Given the description of an element on the screen output the (x, y) to click on. 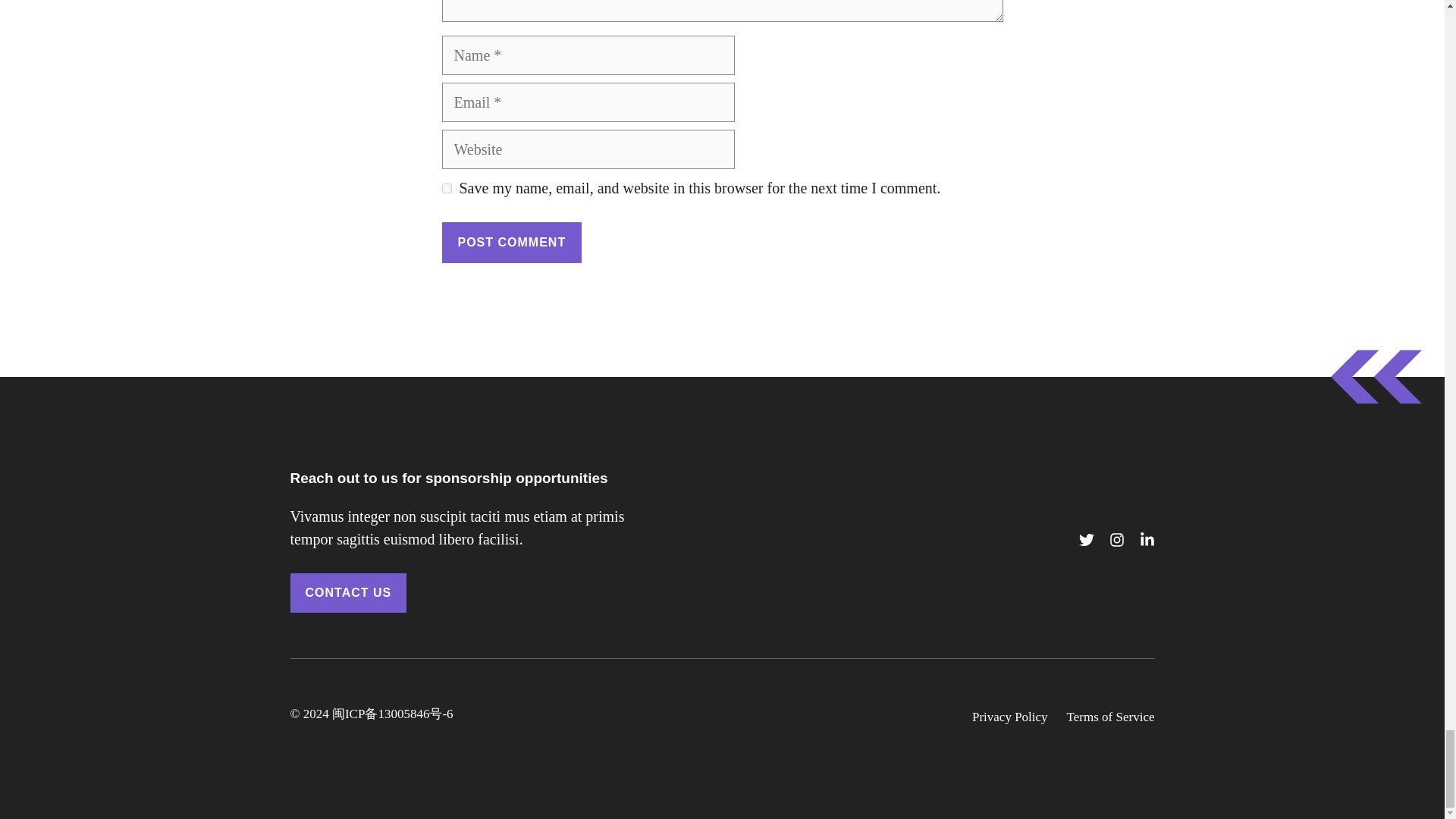
Terms of Service (1110, 716)
yes (446, 188)
Post Comment (510, 241)
CONTACT US (347, 592)
Post Comment (510, 241)
Privacy Policy (1010, 716)
